Given the description of an element on the screen output the (x, y) to click on. 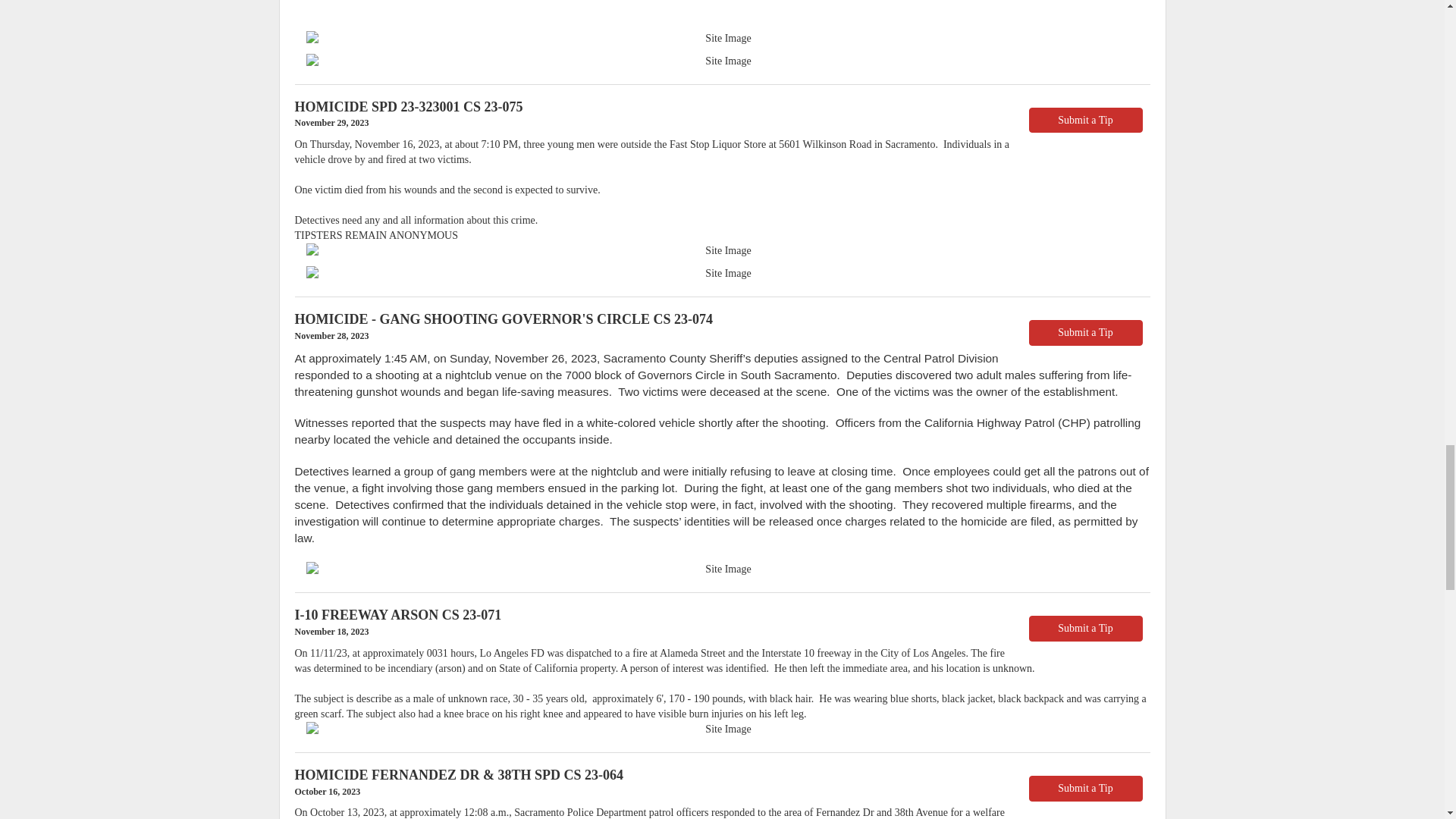
Click to Enlarge (721, 38)
Click to Enlarge (721, 250)
Click to Enlarge (721, 569)
Click to Enlarge (721, 729)
